Given the description of an element on the screen output the (x, y) to click on. 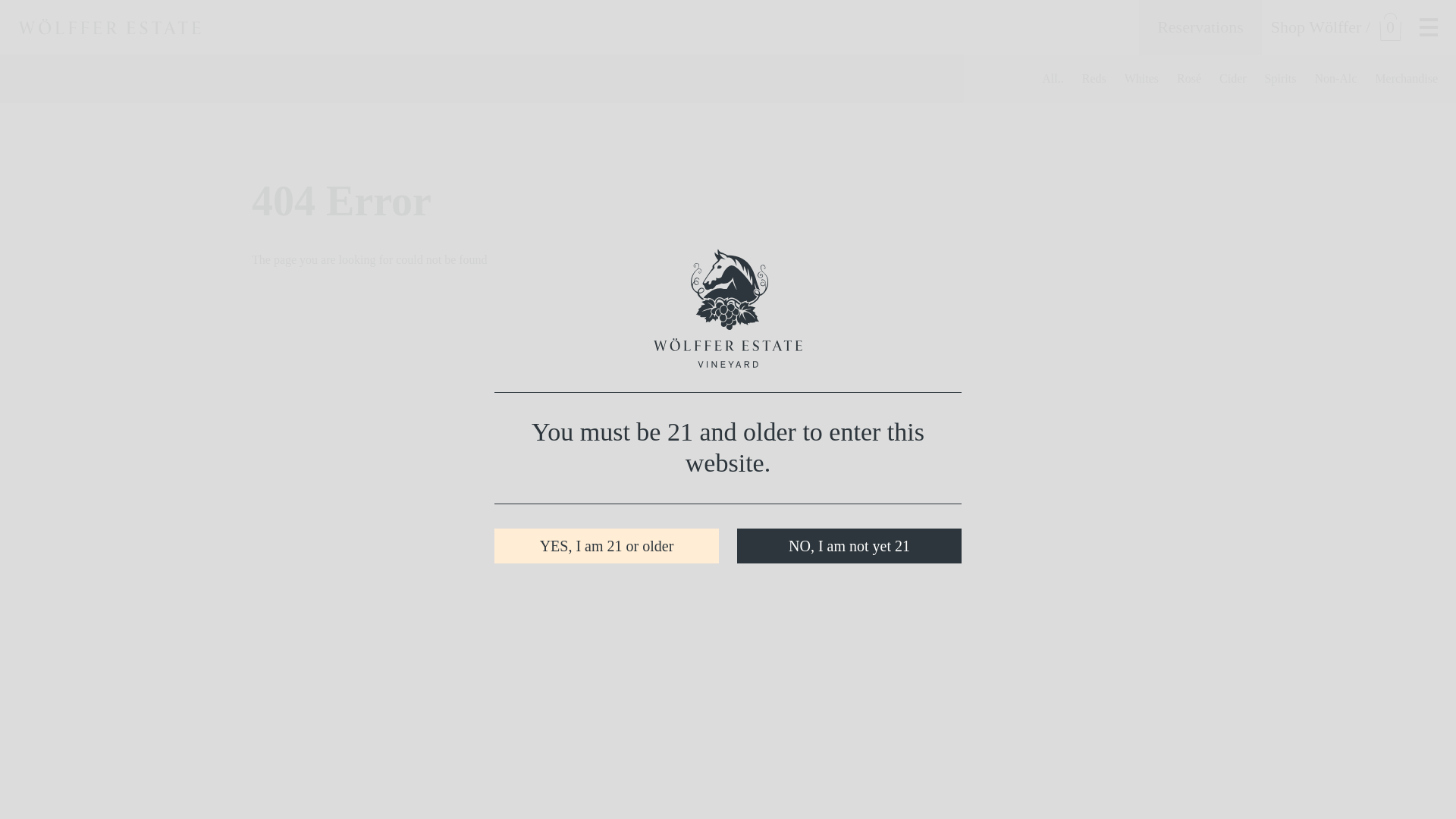
YES, I am 21 or older (607, 545)
Merchandise (1406, 78)
Cider (1233, 78)
menu (1428, 27)
NO, I am not yet 21 (848, 545)
Spirits (1281, 78)
Whites (1141, 78)
Reservations (1200, 27)
Non-Alc (1335, 78)
Reds (1093, 78)
